Given the description of an element on the screen output the (x, y) to click on. 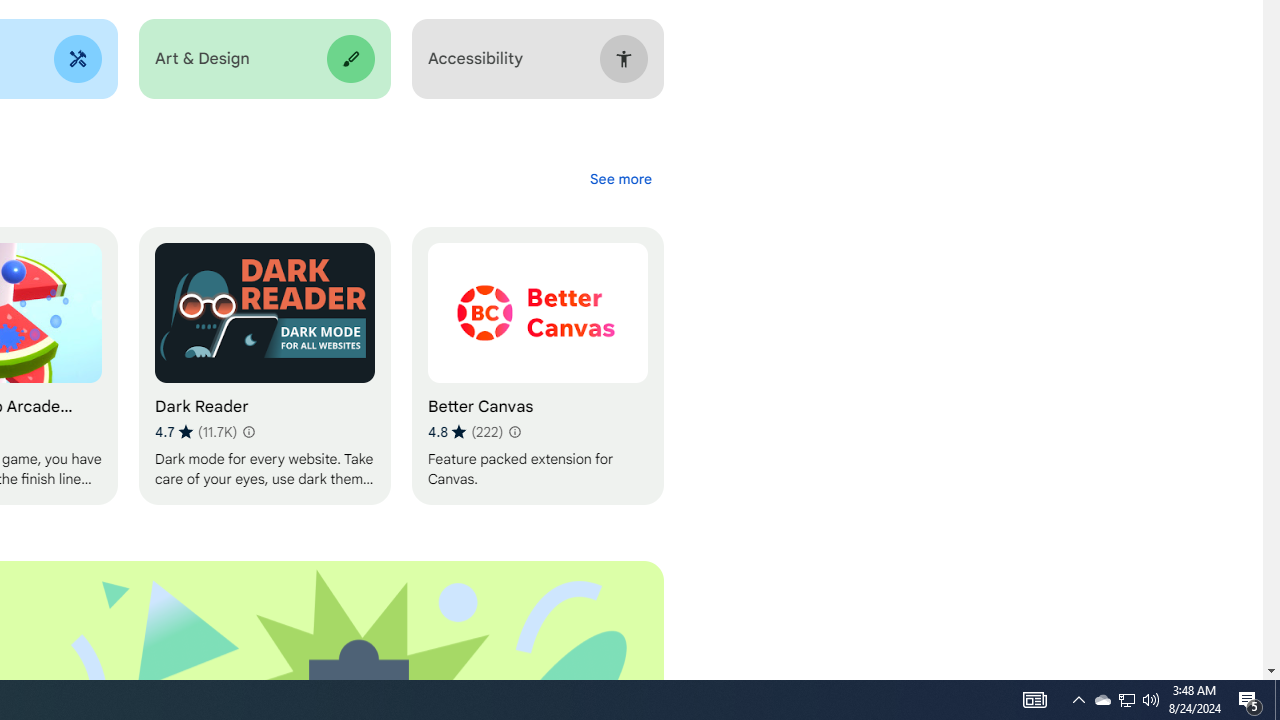
Accessibility (537, 59)
Learn more about results and reviews "Dark Reader" (247, 431)
See more personalized recommendations (620, 178)
Average rating 4.7 out of 5 stars. 11.7K ratings. (195, 431)
Better Canvas (537, 366)
Average rating 4.8 out of 5 stars. 222 ratings. (465, 431)
Art & Design (264, 59)
Learn more about results and reviews "Better Canvas" (513, 431)
Dark Reader (264, 366)
